Given the description of an element on the screen output the (x, y) to click on. 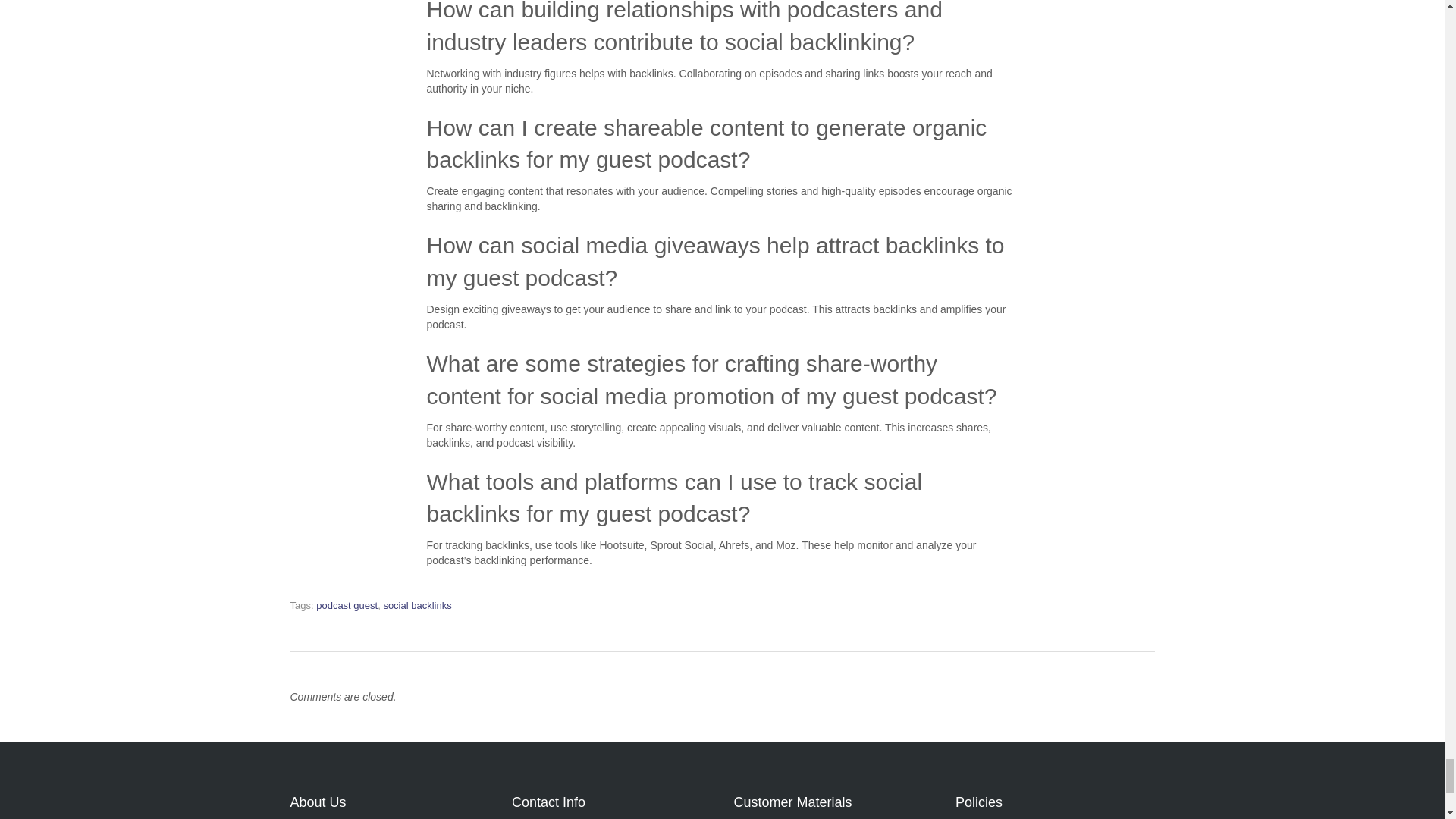
podcast guest (346, 604)
social backlinks (416, 604)
